Given the description of an element on the screen output the (x, y) to click on. 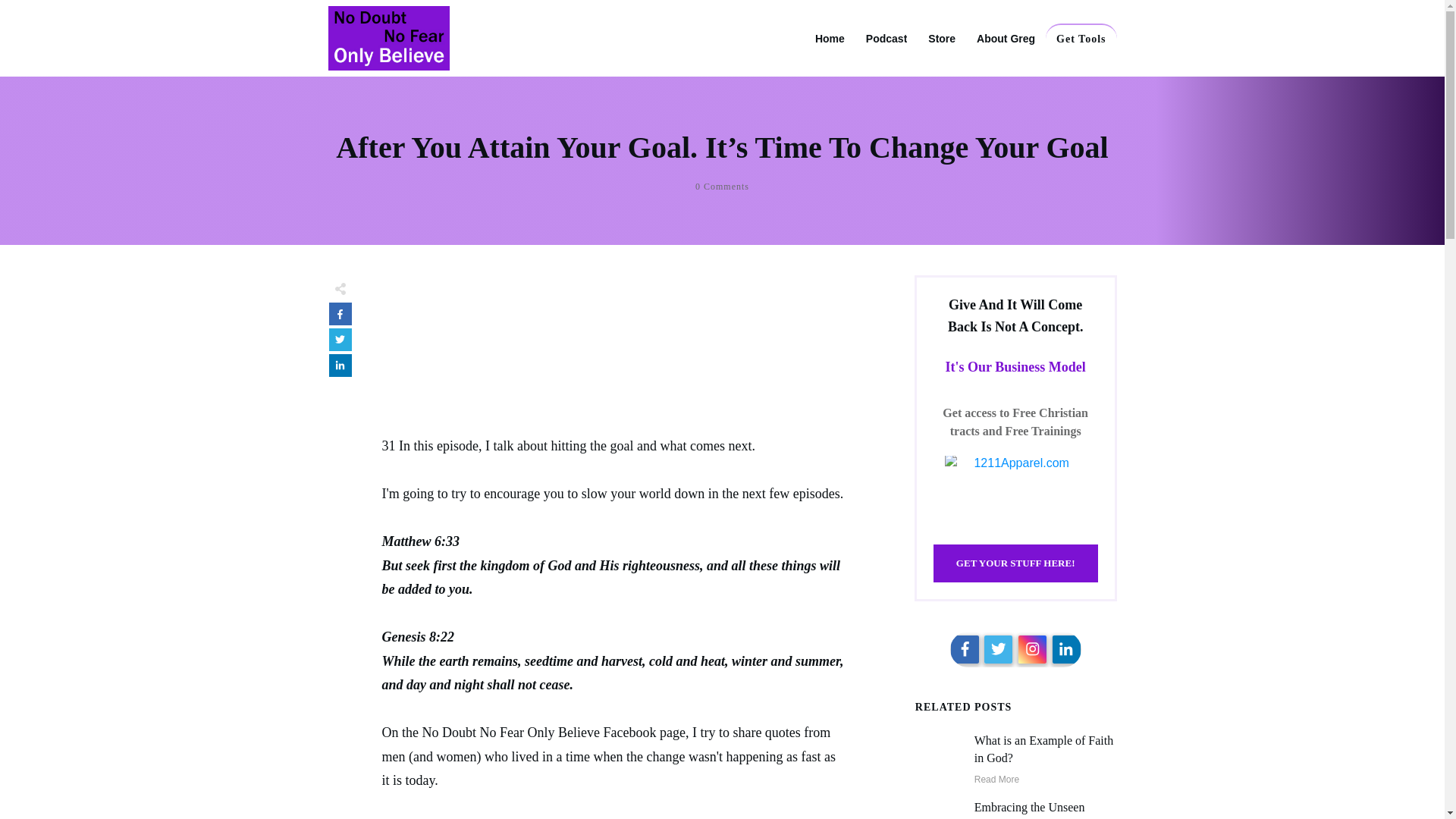
Podcast (886, 38)
Get Tools (1081, 38)
About Greg (1005, 38)
Store (941, 38)
Home (829, 38)
